Given the description of an element on the screen output the (x, y) to click on. 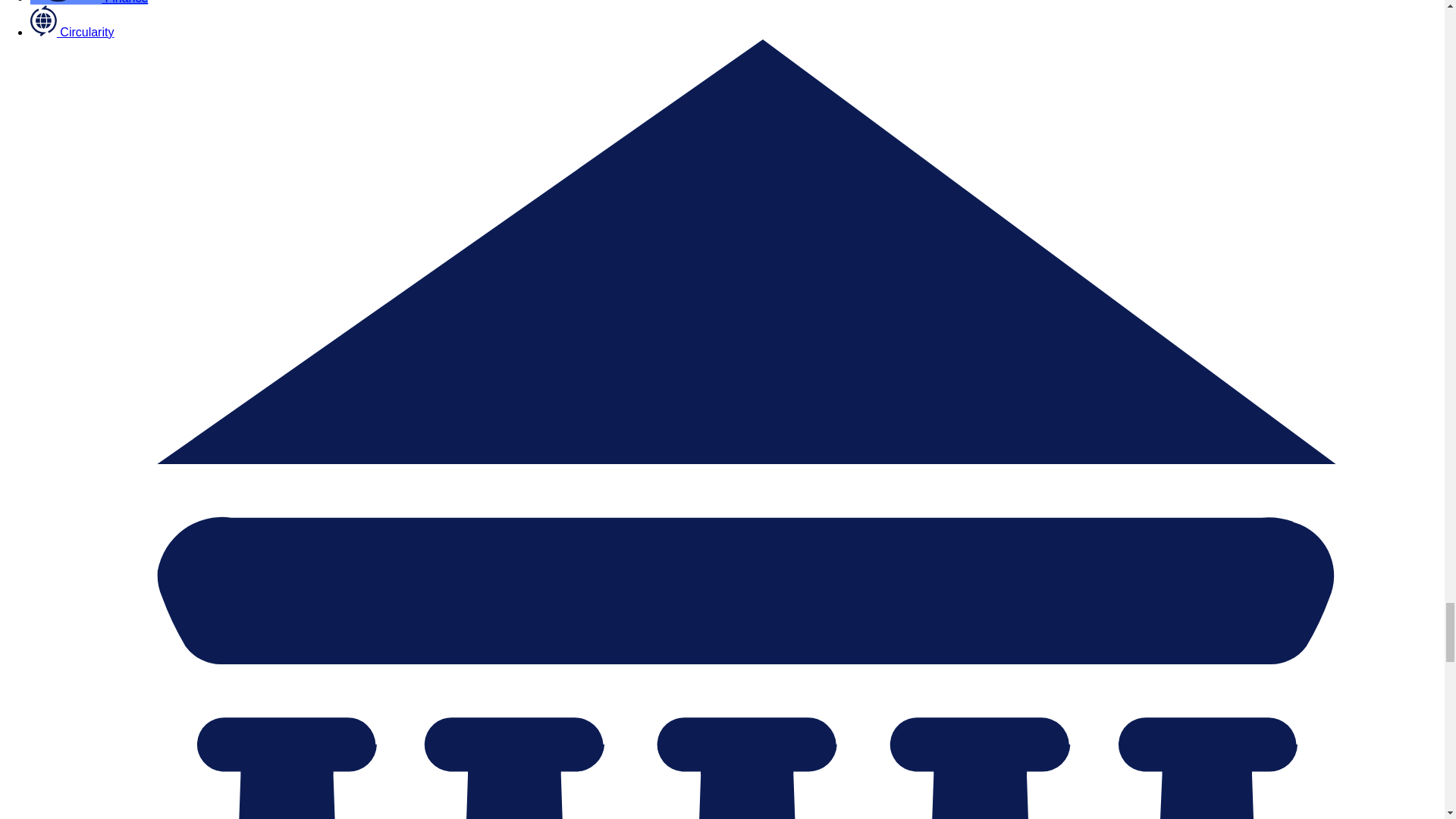
Circularity (71, 31)
Finance (89, 2)
Finance (89, 2)
